Given the description of an element on the screen output the (x, y) to click on. 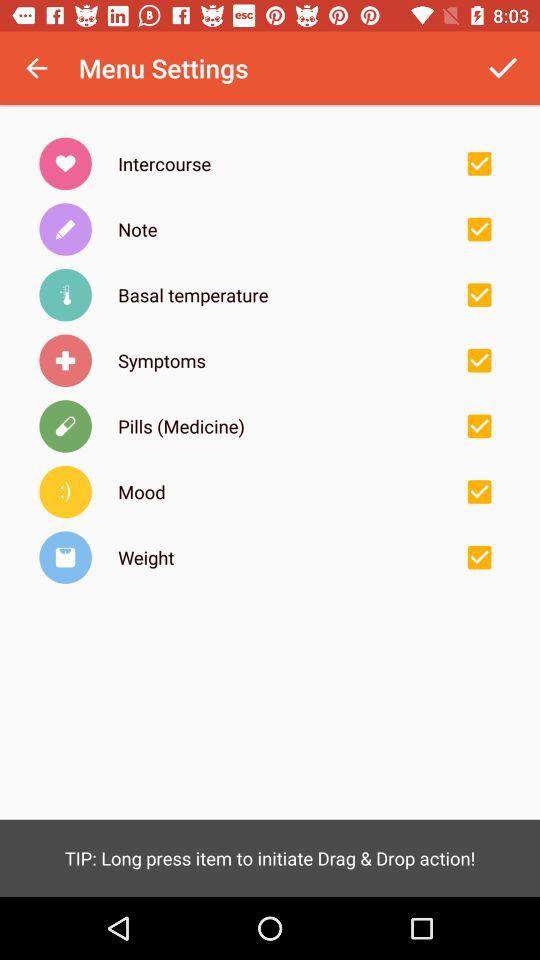
remove symptoms menu (479, 360)
